Given the description of an element on the screen output the (x, y) to click on. 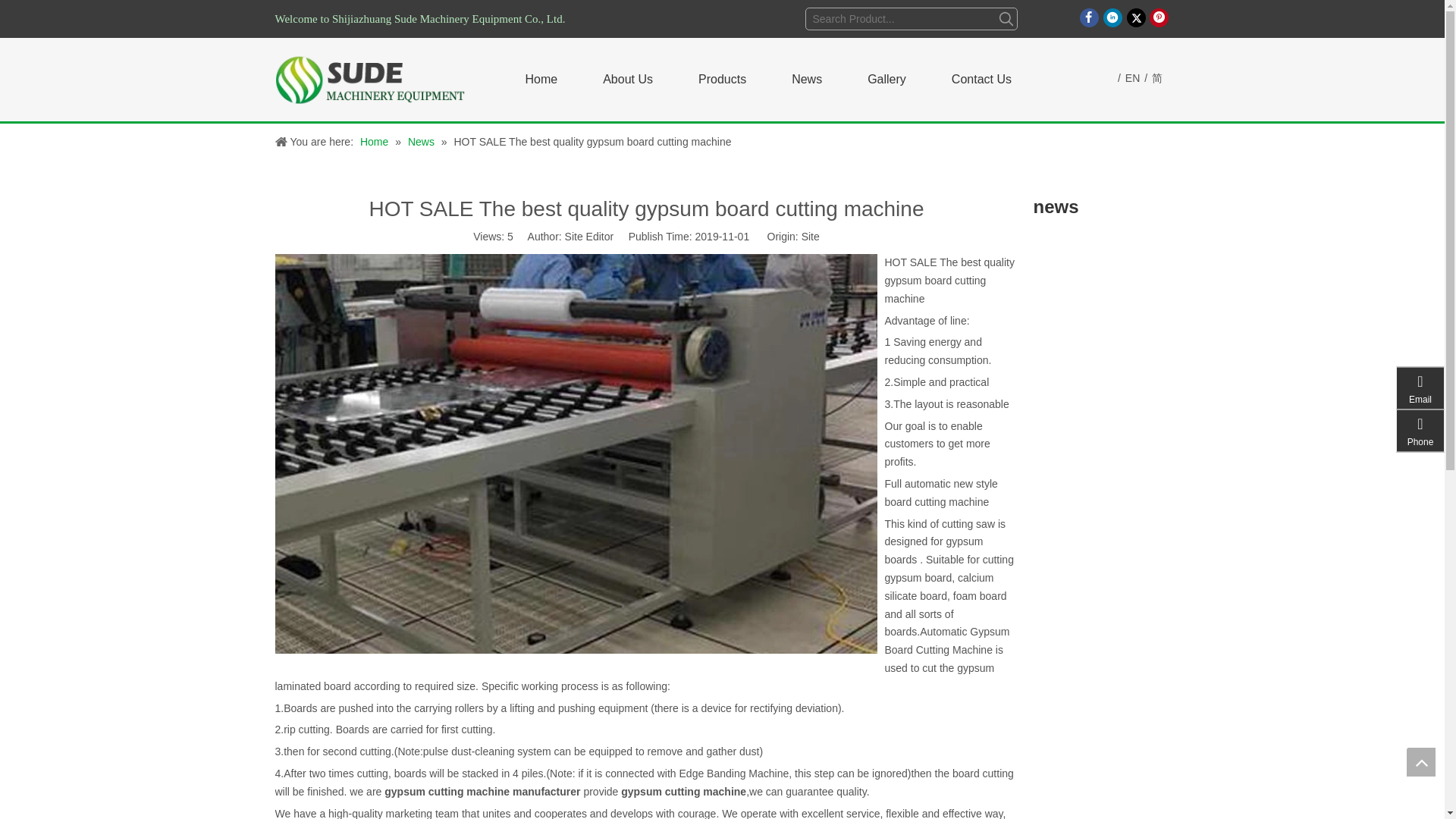
About Us (627, 79)
News (807, 79)
Gallery (886, 79)
Twitter (1135, 17)
Linkedin (1112, 17)
Contact Us (981, 79)
Products (722, 79)
Facebook (1089, 17)
Home (541, 79)
